Given the description of an element on the screen output the (x, y) to click on. 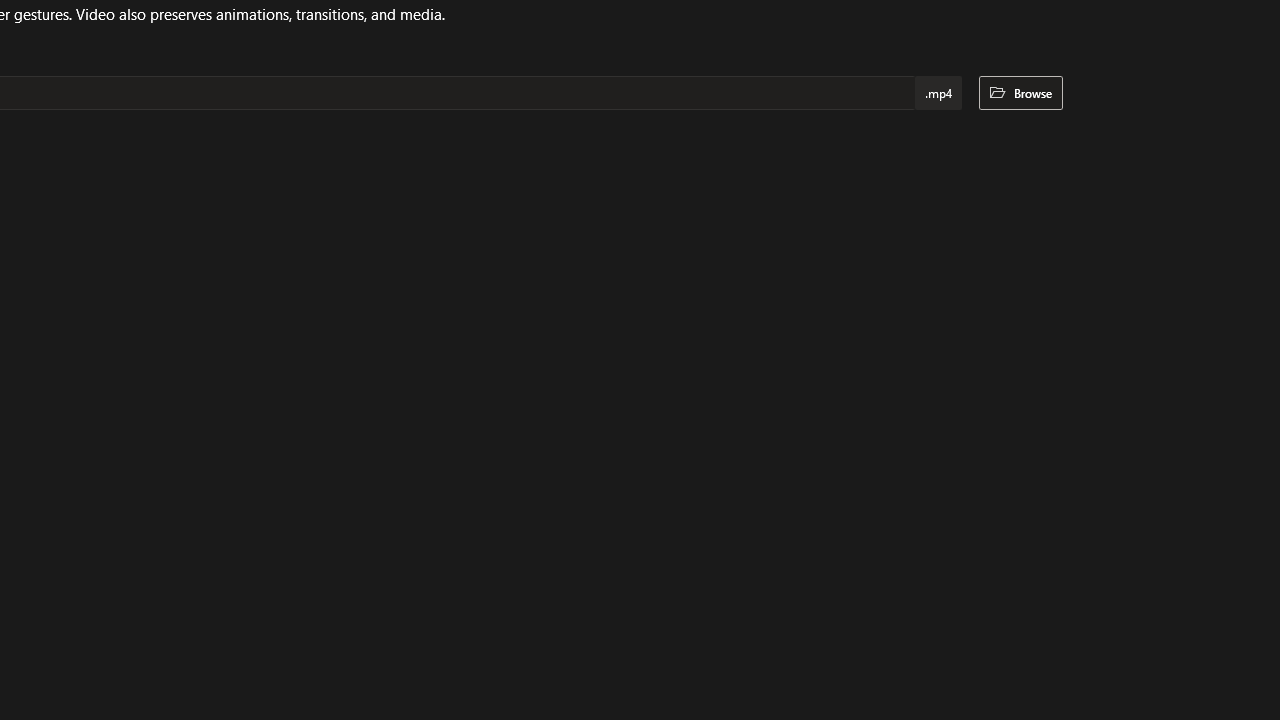
Zoom 140% (1234, 668)
